Given the description of an element on the screen output the (x, y) to click on. 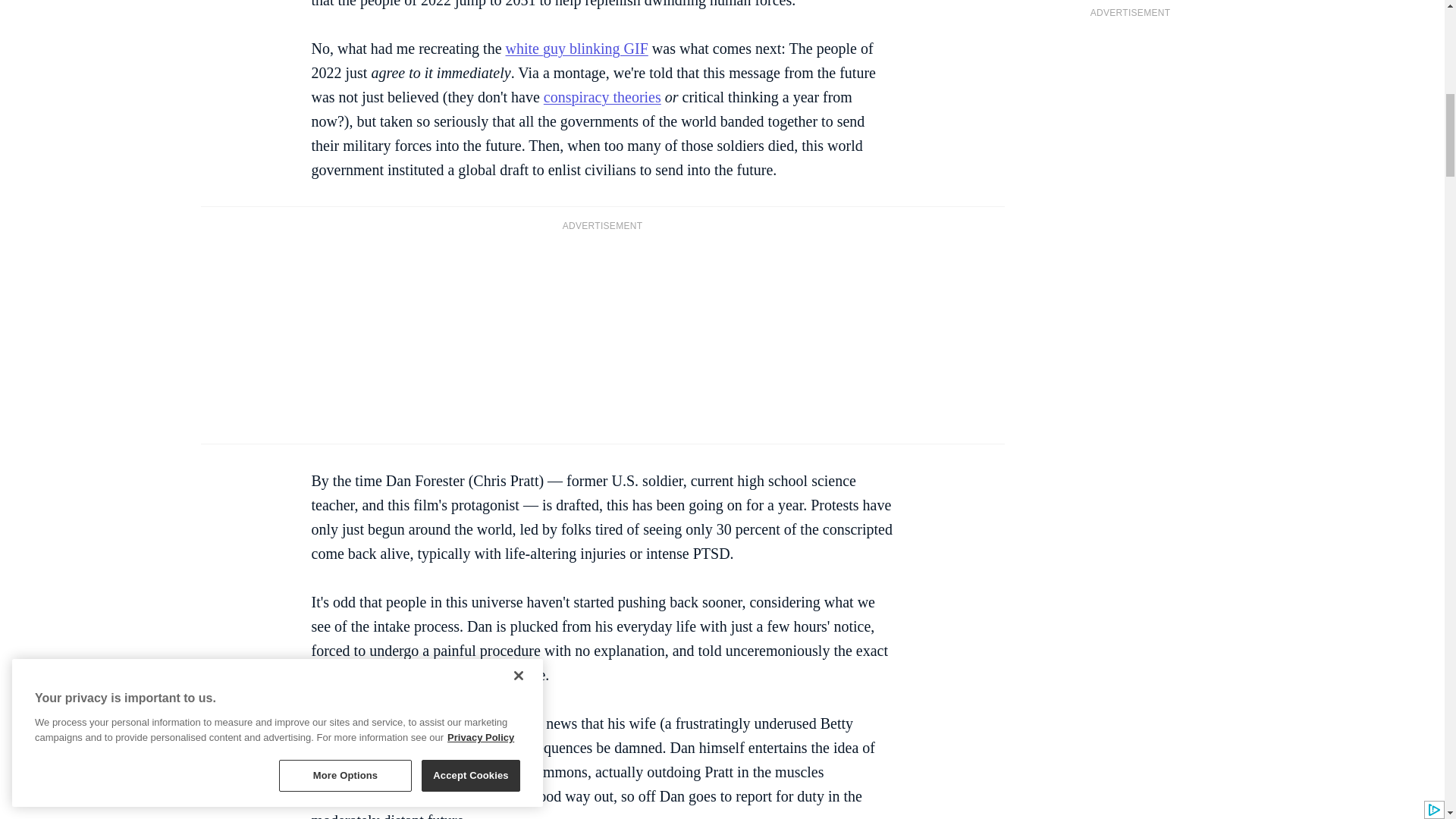
3rd party ad content (601, 336)
